Given the description of an element on the screen output the (x, y) to click on. 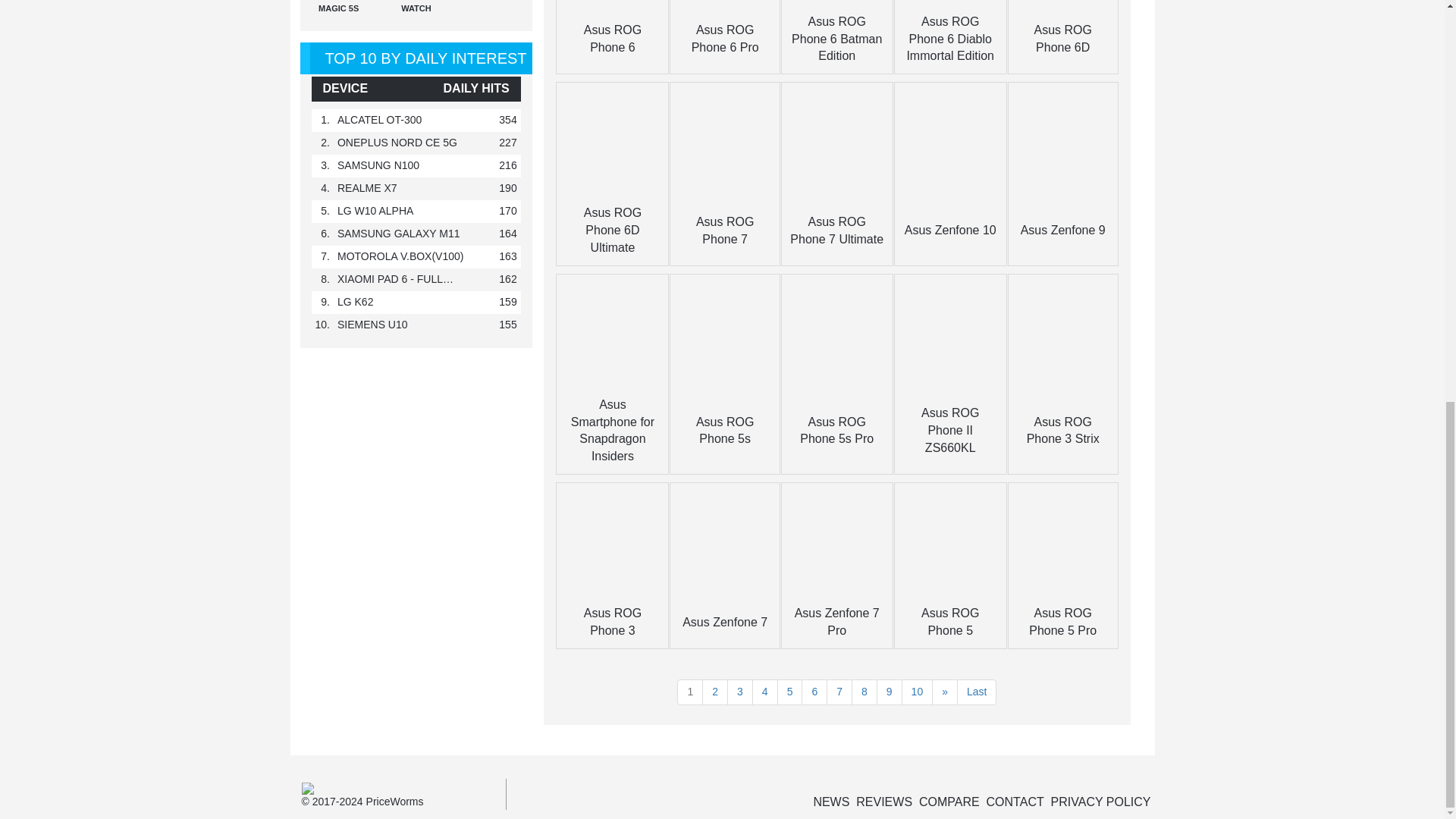
Asus Zenfone 7 Pro (836, 621)
Asus Zenfone 10 (949, 229)
Asus ROG Phone 6 Pro (724, 38)
Asus ROG Phone 6 Diablo Immortal Edition (949, 39)
Asus ROG Phone 6 Batman Edition (837, 39)
Asus ROG Phone 6D Ultimate (612, 229)
Asus ROG Phone 5s (724, 430)
Asus Smartphone for Snapdragon Insiders (611, 430)
Asus ROG Phone 3 (612, 621)
Asus ROG Phone 3 Strix (1062, 430)
Asus Zenfone 7 (724, 621)
Asus ROG Phone 7 (724, 230)
Asus ROG Phone 7 Ultimate (836, 230)
Asus ROG Phone 5s Pro (836, 430)
Asus ROG Phone II ZS660KL (949, 430)
